Given the description of an element on the screen output the (x, y) to click on. 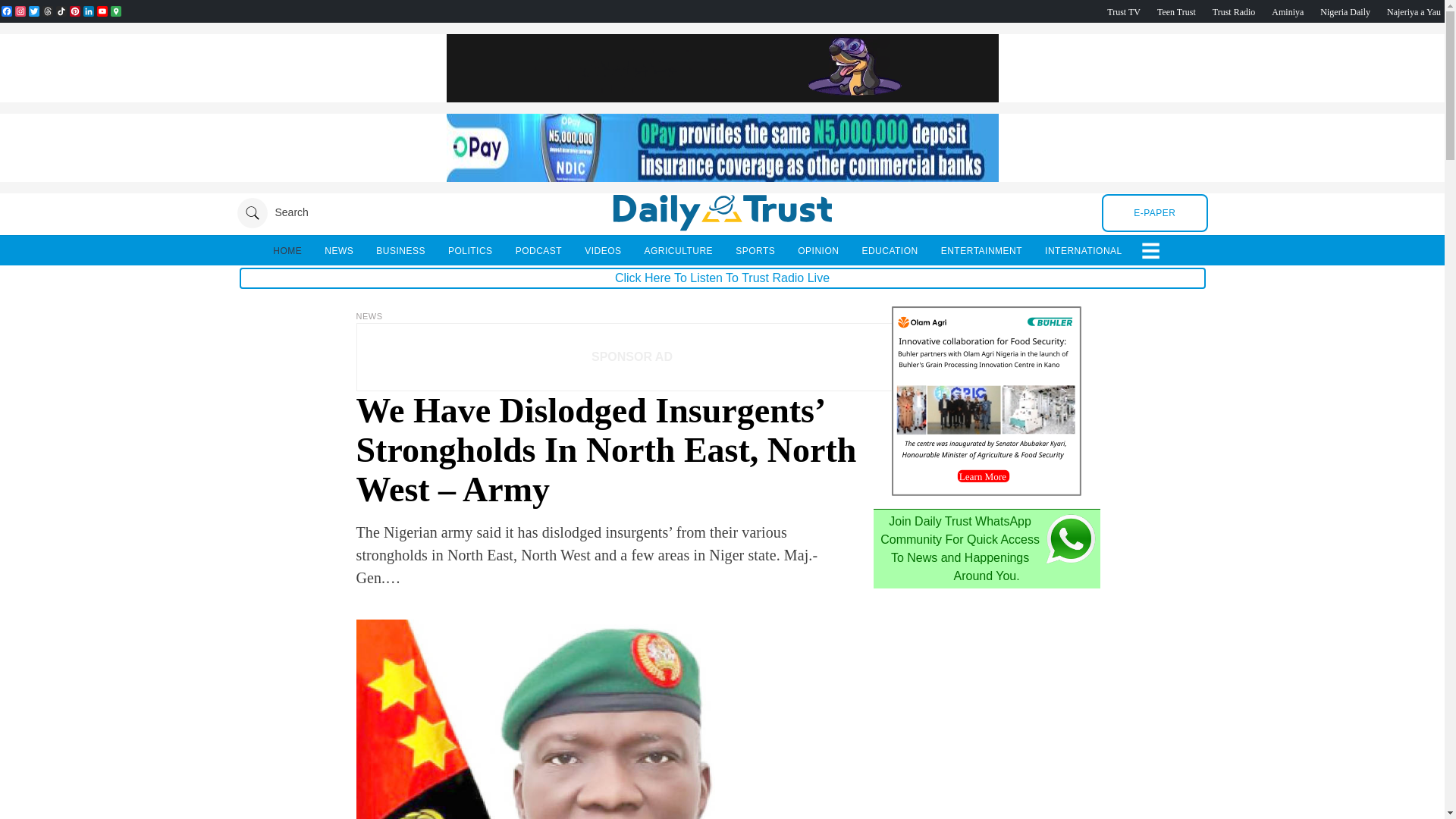
Aminiya Online (1287, 11)
Trust Radio Live (1233, 11)
Teen Trust (1176, 11)
Saurari Shirye Shiryenmu (1414, 11)
Dailytrust (722, 212)
Twitter (33, 10)
TikTok (61, 10)
Podcast (1345, 11)
Aminiya (1287, 11)
Trust Radio (1233, 11)
E-PAPER (1154, 212)
Pinterest (74, 10)
News (369, 316)
Olam Agri (986, 491)
Search (271, 212)
